Given the description of an element on the screen output the (x, y) to click on. 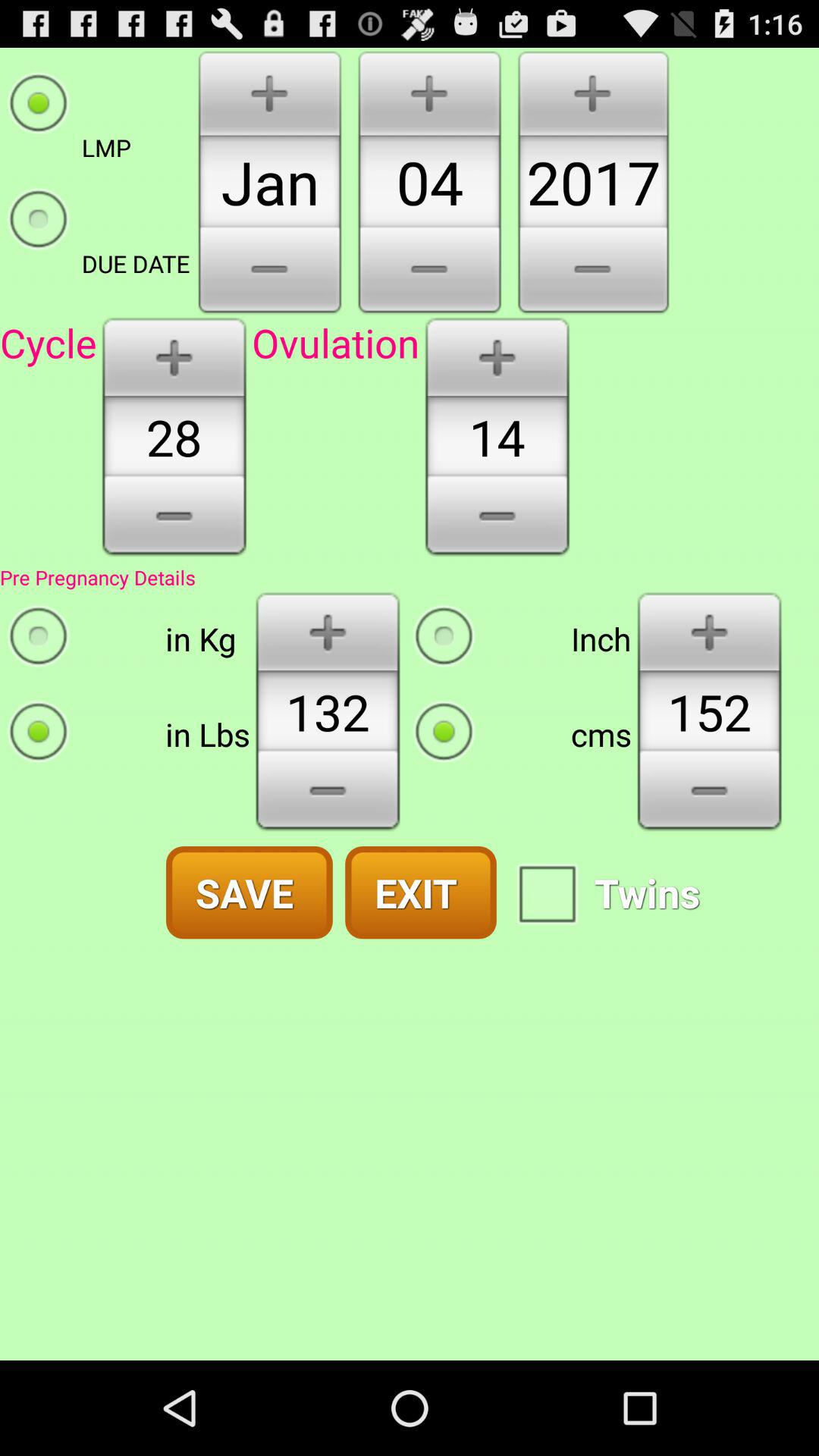
decrement cycle (173, 521)
